Given the description of an element on the screen output the (x, y) to click on. 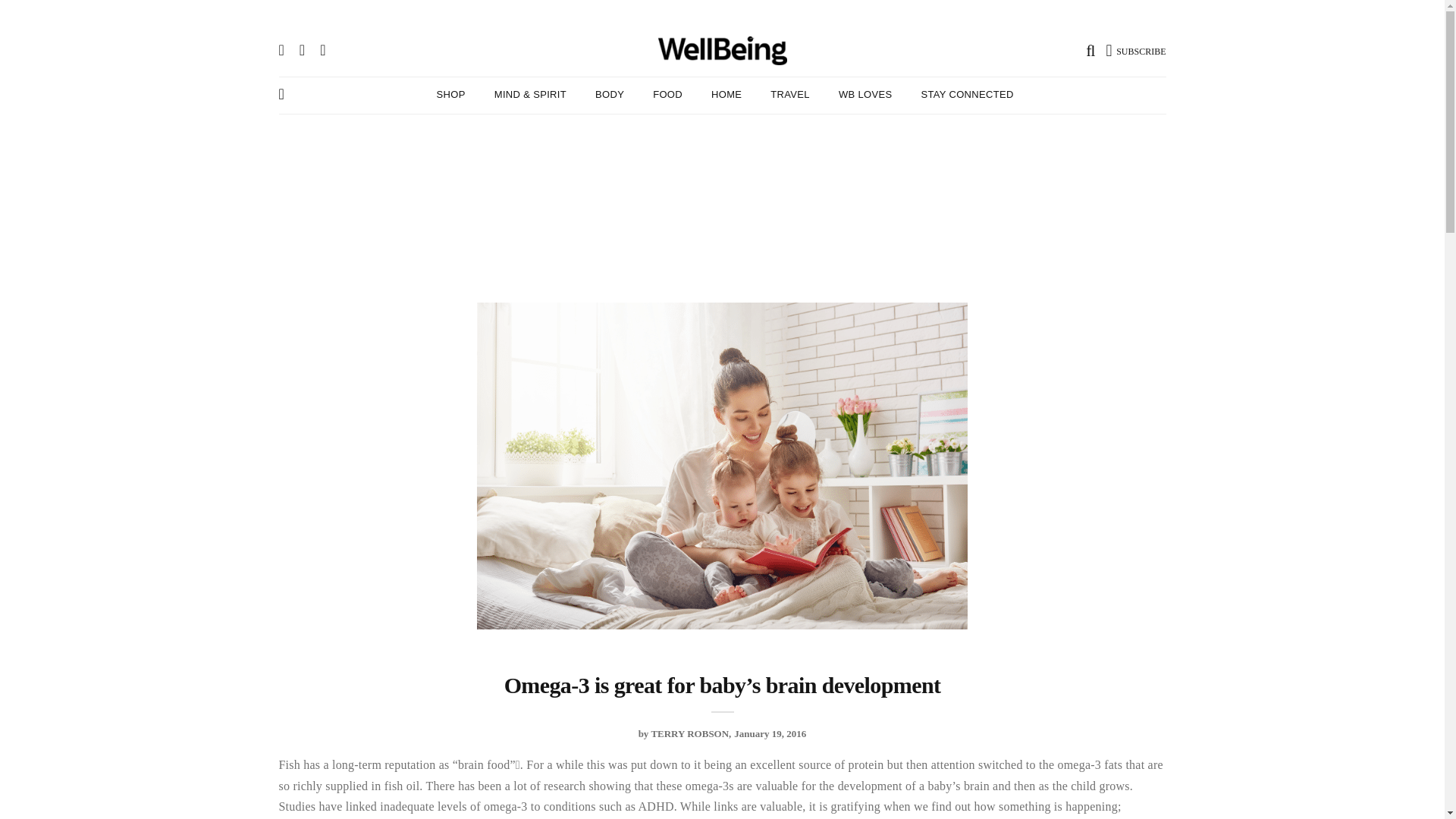
SHOP (450, 94)
FOOD (667, 94)
Home (726, 94)
SUBSCRIBE (1136, 48)
WB Loves (865, 94)
Body (609, 94)
BODY (609, 94)
Travel (789, 94)
TRAVEL (789, 94)
STAY CONNECTED (966, 94)
